Given the description of an element on the screen output the (x, y) to click on. 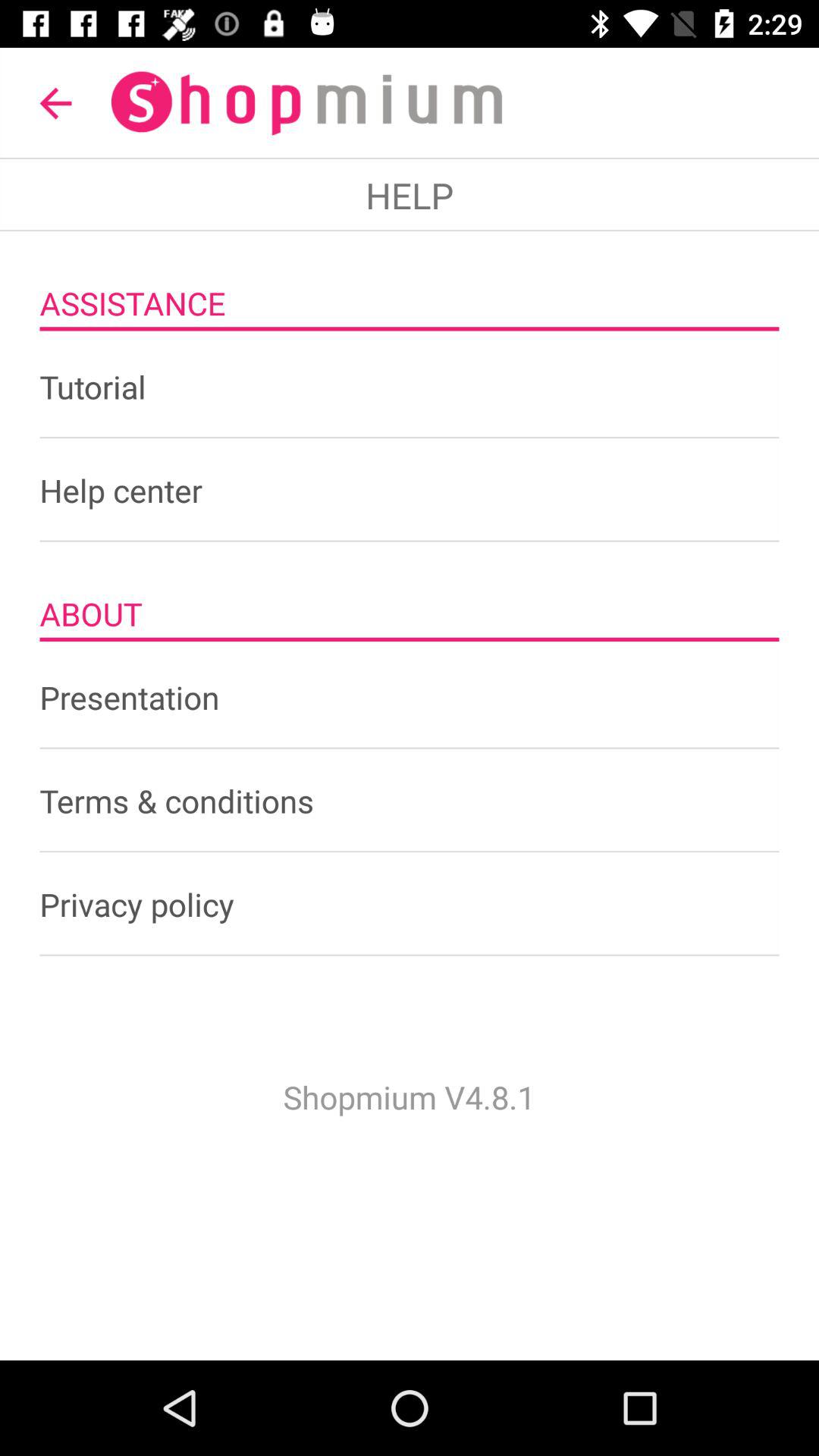
select the terms & conditions item (409, 800)
